Given the description of an element on the screen output the (x, y) to click on. 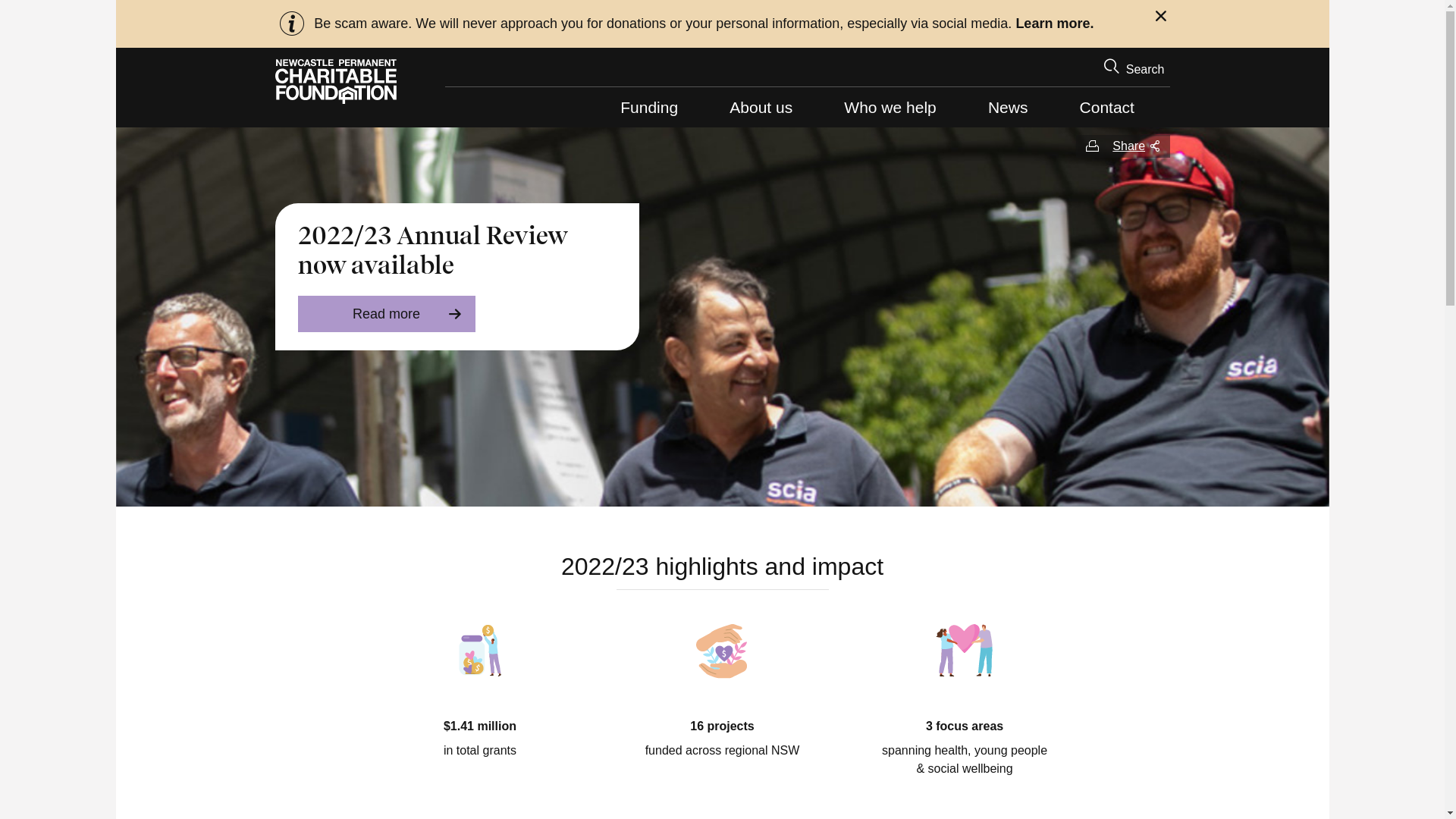
Dismiss Element type: text (1161, 18)
About us Element type: text (761, 107)
Funding Element type: text (649, 107)
Who we help Element type: text (890, 107)
Contact Element type: text (1106, 107)
Newcastle Permanent Charitable Foundation Element type: text (334, 81)
Read more Element type: text (385, 313)
Search Element type: text (1133, 67)
Share Element type: text (1135, 145)
News Element type: text (1007, 107)
Learn more. Element type: text (1054, 23)
Print Element type: text (1091, 145)
Read more Element type: text (787, 23)
